Given the description of an element on the screen output the (x, y) to click on. 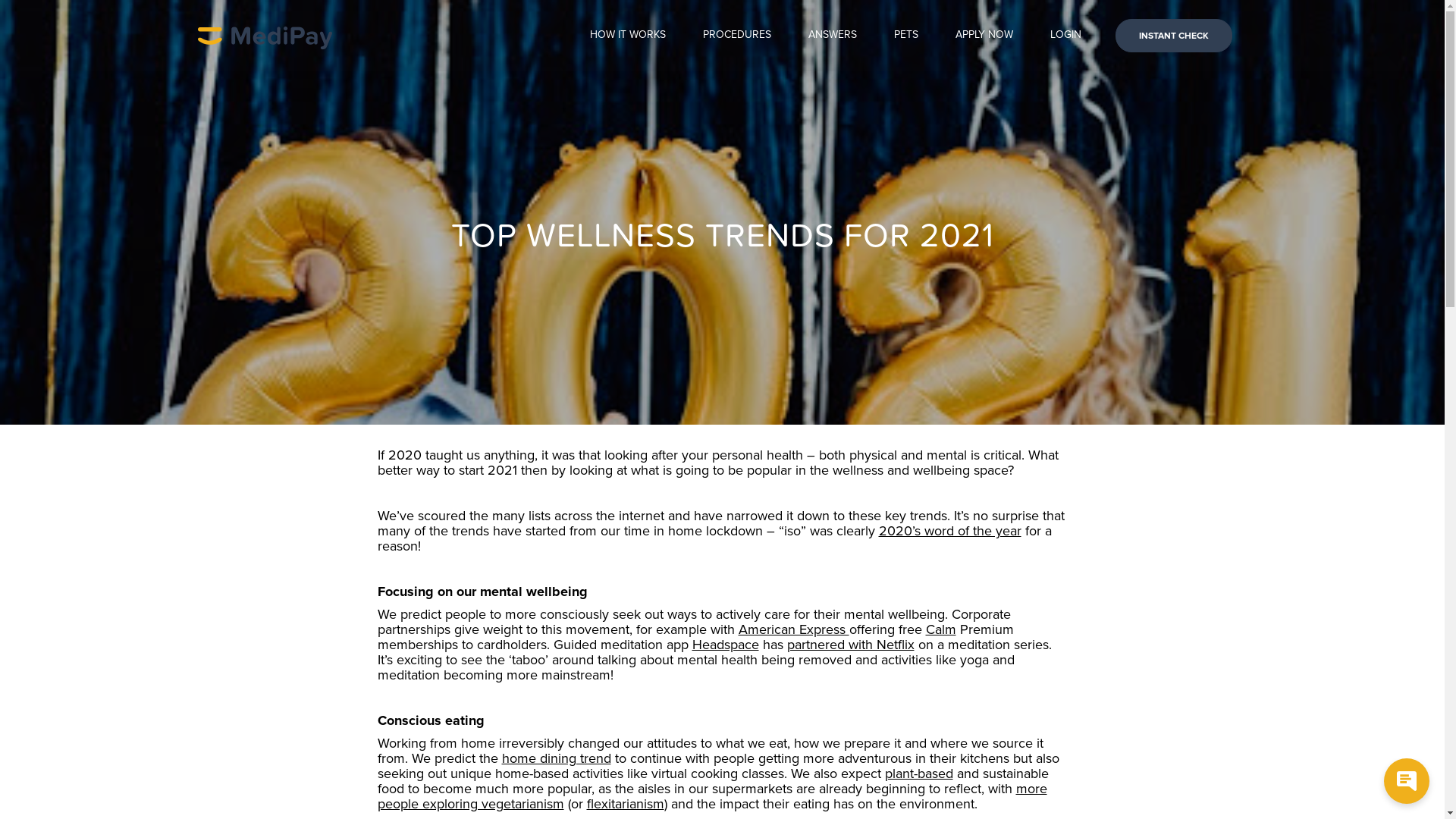
Headspace Element type: text (724, 644)
partnered with Netflix Element type: text (850, 644)
American Express Element type: text (793, 629)
Calm Element type: text (940, 629)
APPLY NOW Element type: text (984, 34)
more people exploring vegetarianism Element type: text (712, 796)
PROCEDURES Element type: text (736, 34)
flexitarianism Element type: text (625, 803)
MEDIPAY Element type: text (264, 35)
PETS Element type: text (905, 34)
INSTANT CHECK Element type: text (1172, 35)
ANSWERS Element type: text (832, 34)
plant-based Element type: text (918, 773)
HOW IT WORKS Element type: text (627, 34)
home dining trend Element type: text (556, 757)
LOGIN Element type: text (1064, 34)
